Given the description of an element on the screen output the (x, y) to click on. 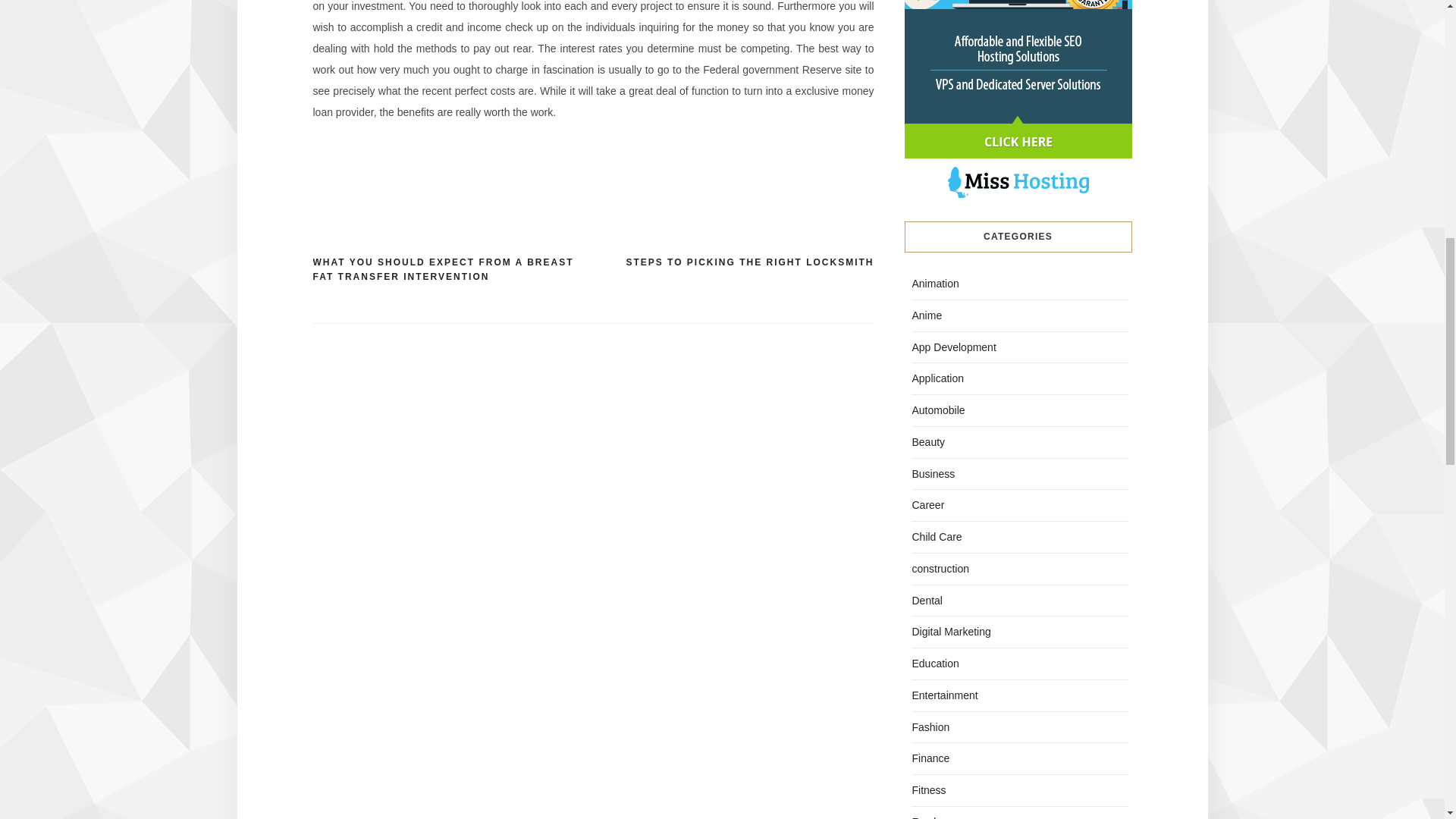
Business (933, 472)
Child Care (935, 536)
Career (927, 504)
Finance (930, 758)
Education (934, 663)
Automobile (937, 410)
App Development (953, 346)
Beauty (927, 441)
Fashion (930, 726)
Entertainment (943, 695)
